Given the description of an element on the screen output the (x, y) to click on. 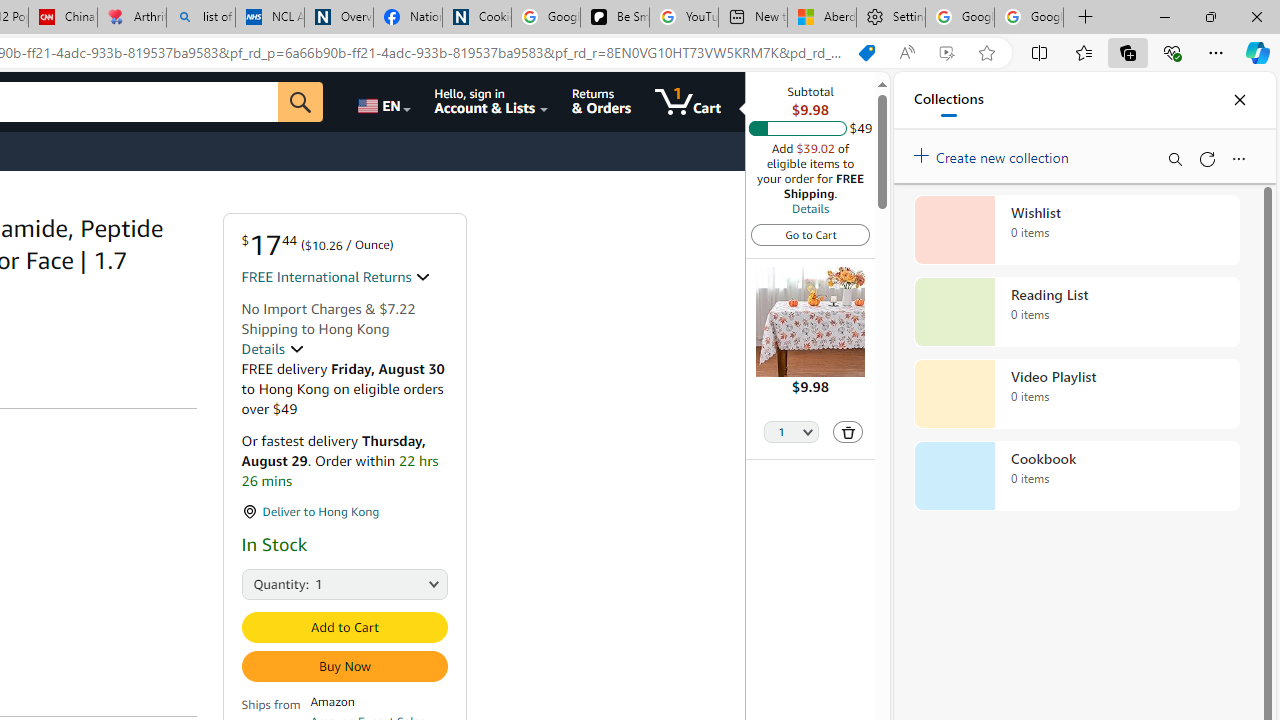
Be Smart | creating Science videos | Patreon (614, 17)
Settings and more (Alt+F) (1215, 52)
New tab (753, 17)
Go (300, 101)
Arthritis: Ask Health Professionals (132, 17)
Delete (848, 431)
Go to Cart (810, 234)
list of asthma inhalers uk - Search (200, 17)
Quantity Selector (792, 433)
1 item in cart (687, 101)
Browser essentials (1171, 52)
Split screen (1039, 52)
